Given the description of an element on the screen output the (x, y) to click on. 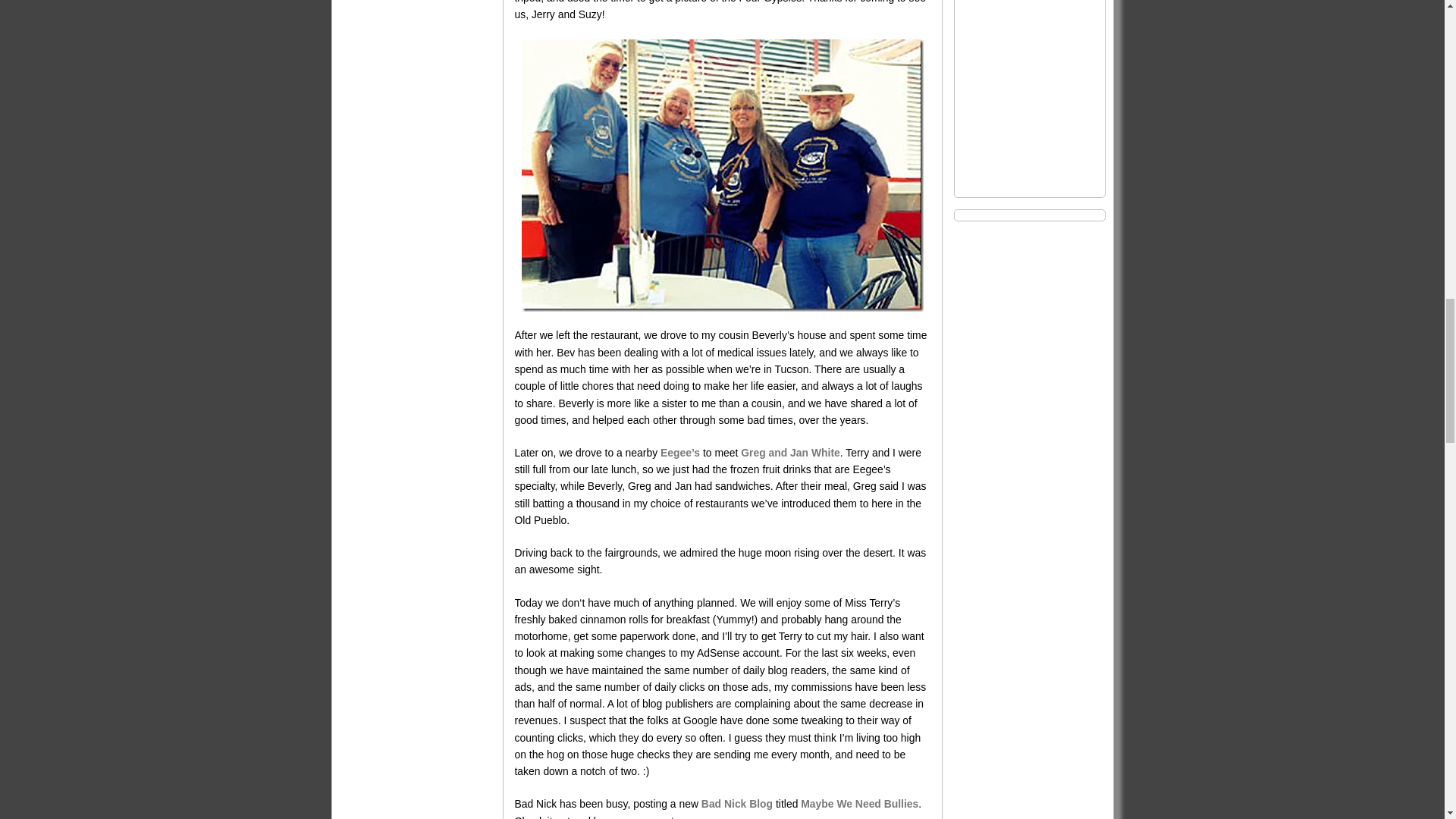
Maybe We Need Bullies (859, 803)
Bad Nick Blog (737, 803)
Greg and Jan White (790, 452)
Four gypsies (722, 175)
